Given the description of an element on the screen output the (x, y) to click on. 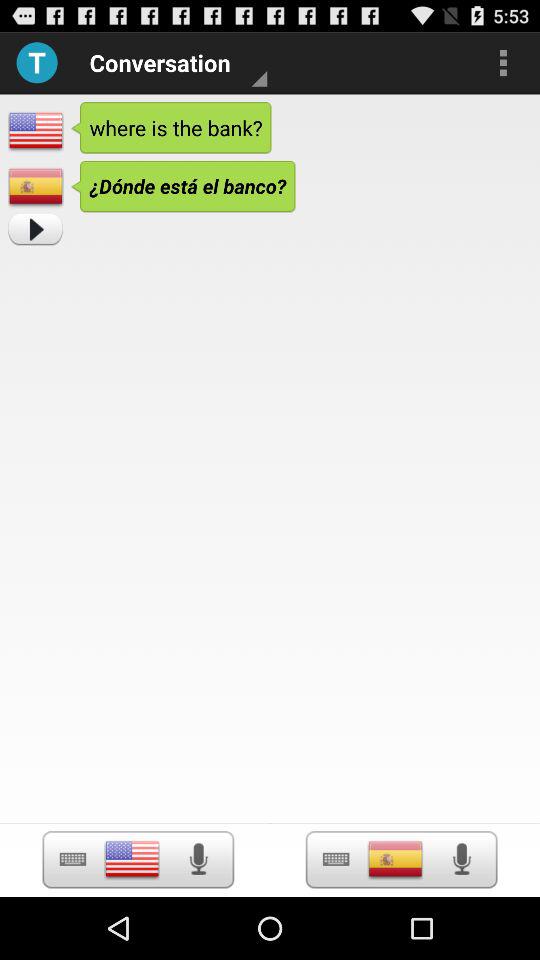
open keypad (72, 859)
